Given the description of an element on the screen output the (x, y) to click on. 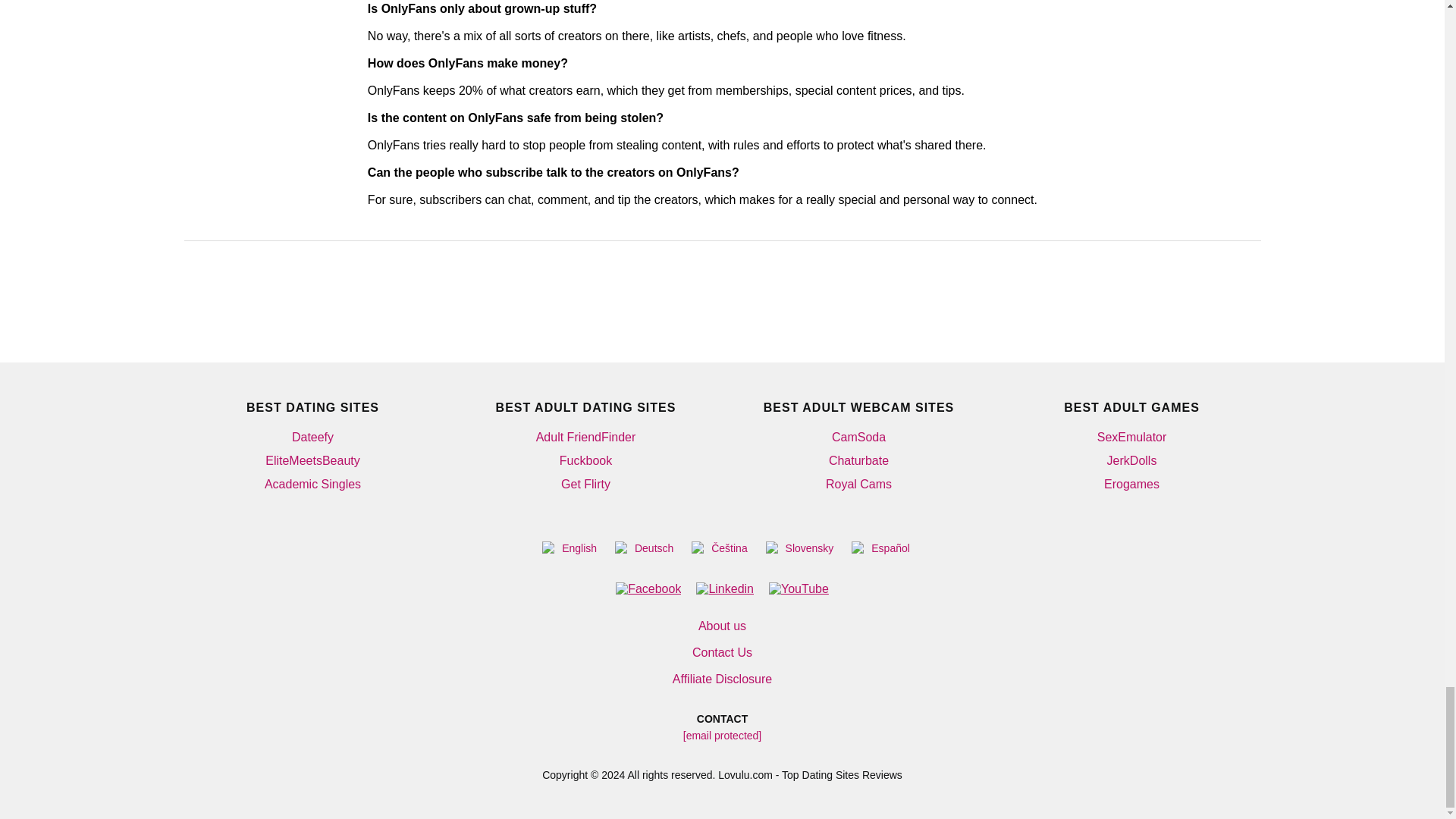
Academic Singles (312, 483)
Chaturbate (858, 460)
Get Flirty (585, 483)
EliteMeetsBeauty (311, 460)
Adult FriendFinder (585, 436)
Fuckbook (585, 460)
Dateefy (312, 436)
CamSoda (858, 436)
